Given the description of an element on the screen output the (x, y) to click on. 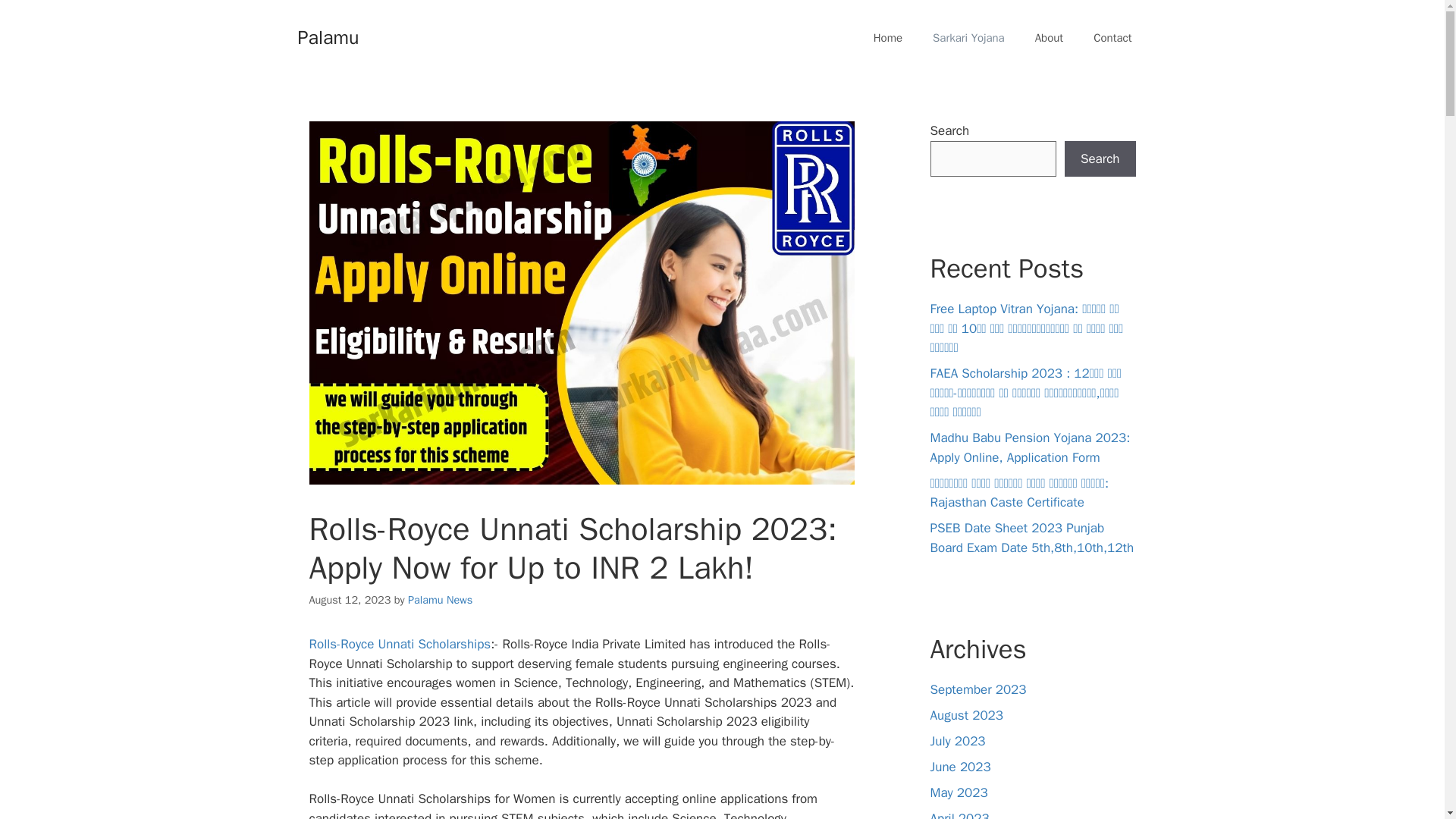
July 2023 (957, 741)
Search (1099, 158)
Home (888, 37)
Contact (1112, 37)
About (1049, 37)
September 2023 (978, 689)
June 2023 (960, 766)
Sarkari Yojana (968, 37)
August 2023 (966, 715)
May 2023 (958, 792)
April 2023 (959, 814)
View all posts by Palamu News (439, 599)
Rolls-Royce Unnati Scholarships (400, 643)
